Given the description of an element on the screen output the (x, y) to click on. 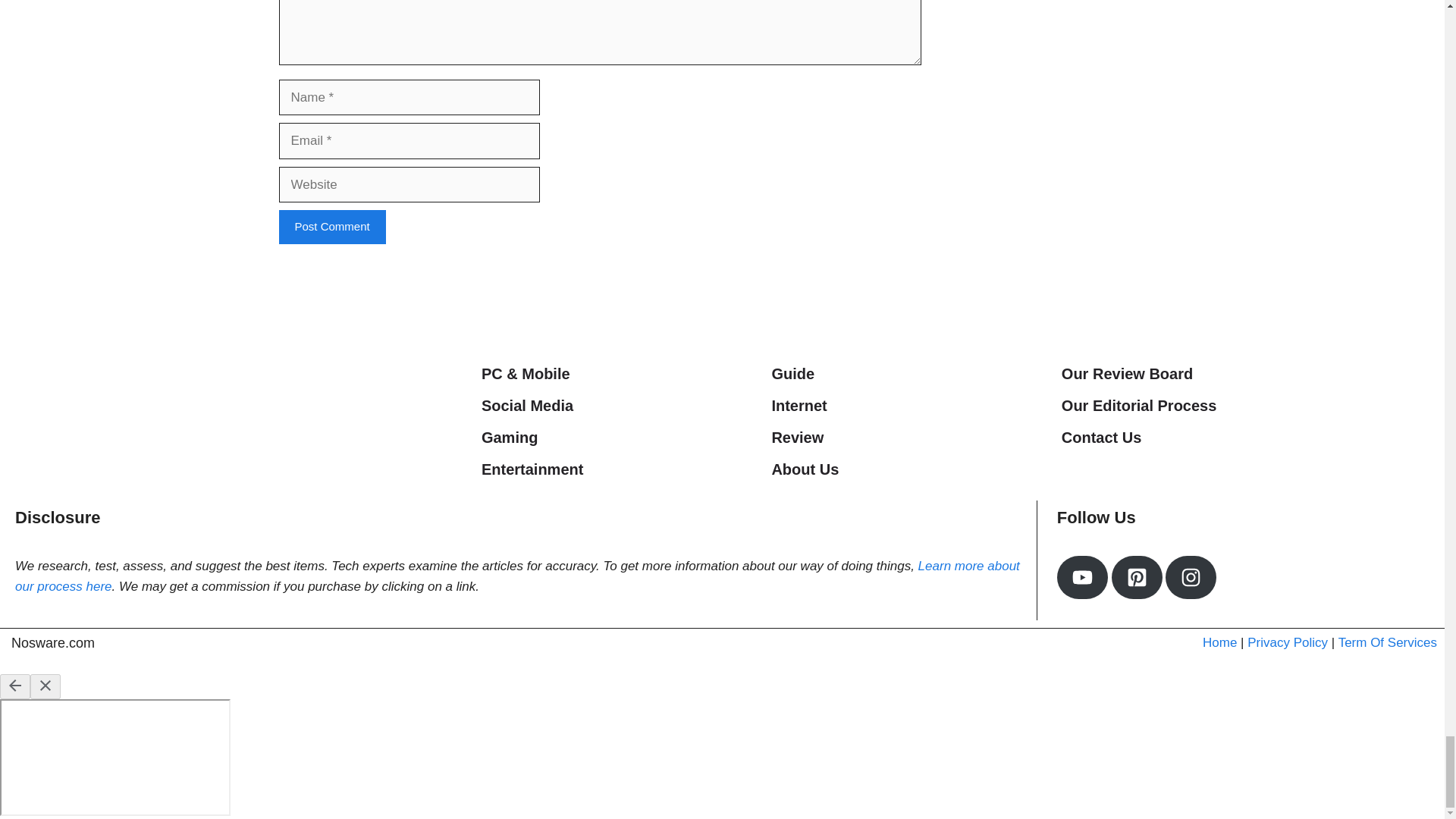
Post Comment (332, 226)
